Given the description of an element on the screen output the (x, y) to click on. 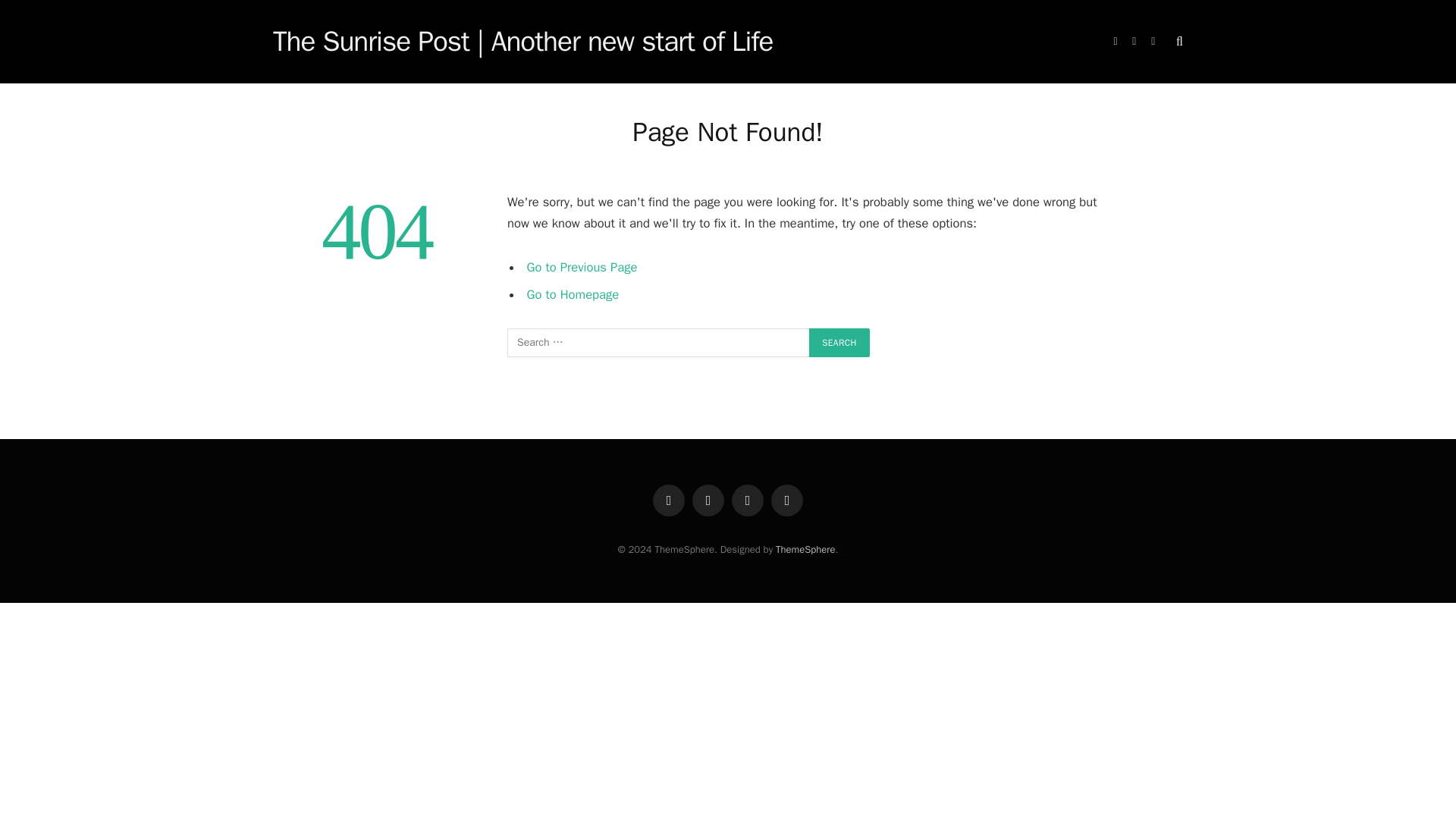
ThemeSphere (805, 549)
Go to Homepage (573, 294)
Search (839, 342)
Pinterest (787, 500)
Search (839, 342)
Go to Previous Page (582, 267)
Search (839, 342)
Instagram (747, 500)
Facebook (668, 500)
